Given the description of an element on the screen output the (x, y) to click on. 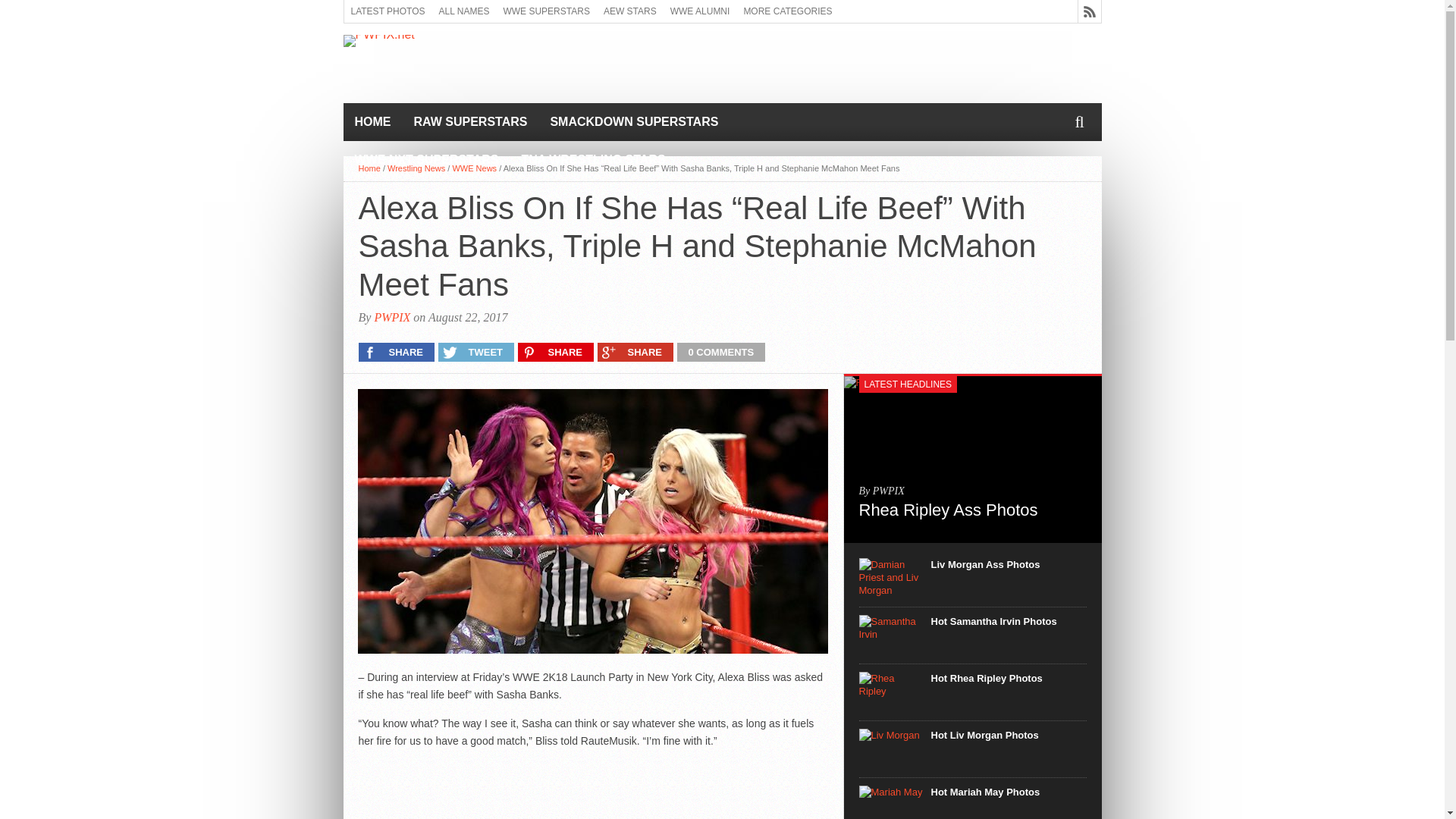
SmackDown Superstars (633, 121)
TNA WRESTLING STARS (593, 159)
Latest Photos (387, 11)
WWE ALUMNI (699, 11)
Raw Superstars (469, 121)
WWE NXT Superstars Photos (425, 159)
AEW STARS (629, 11)
LATEST PHOTOS (387, 11)
All Names (464, 11)
PWPIX (392, 317)
